Given the description of an element on the screen output the (x, y) to click on. 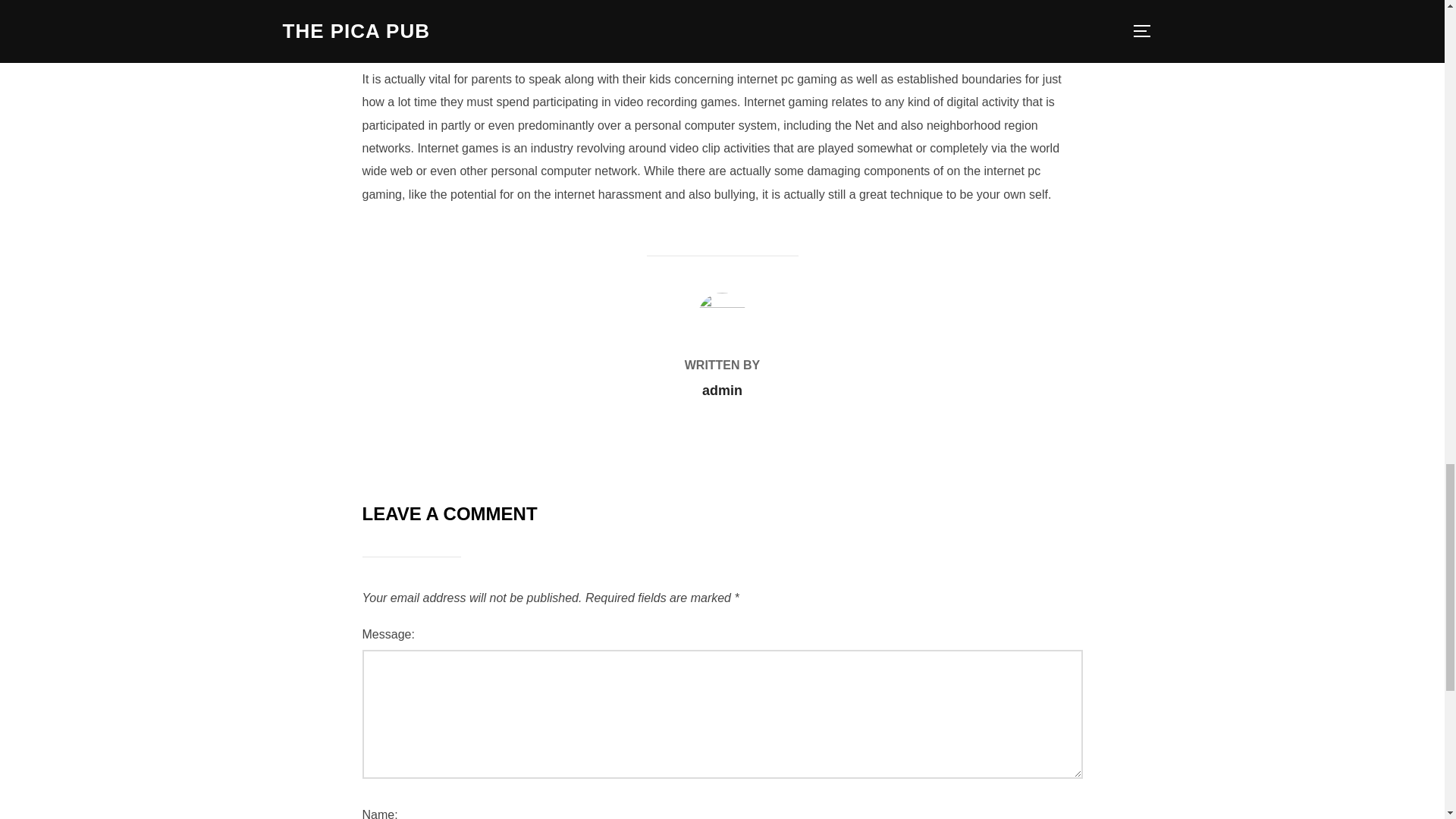
admin (721, 390)
Posts by admin (721, 390)
